Given the description of an element on the screen output the (x, y) to click on. 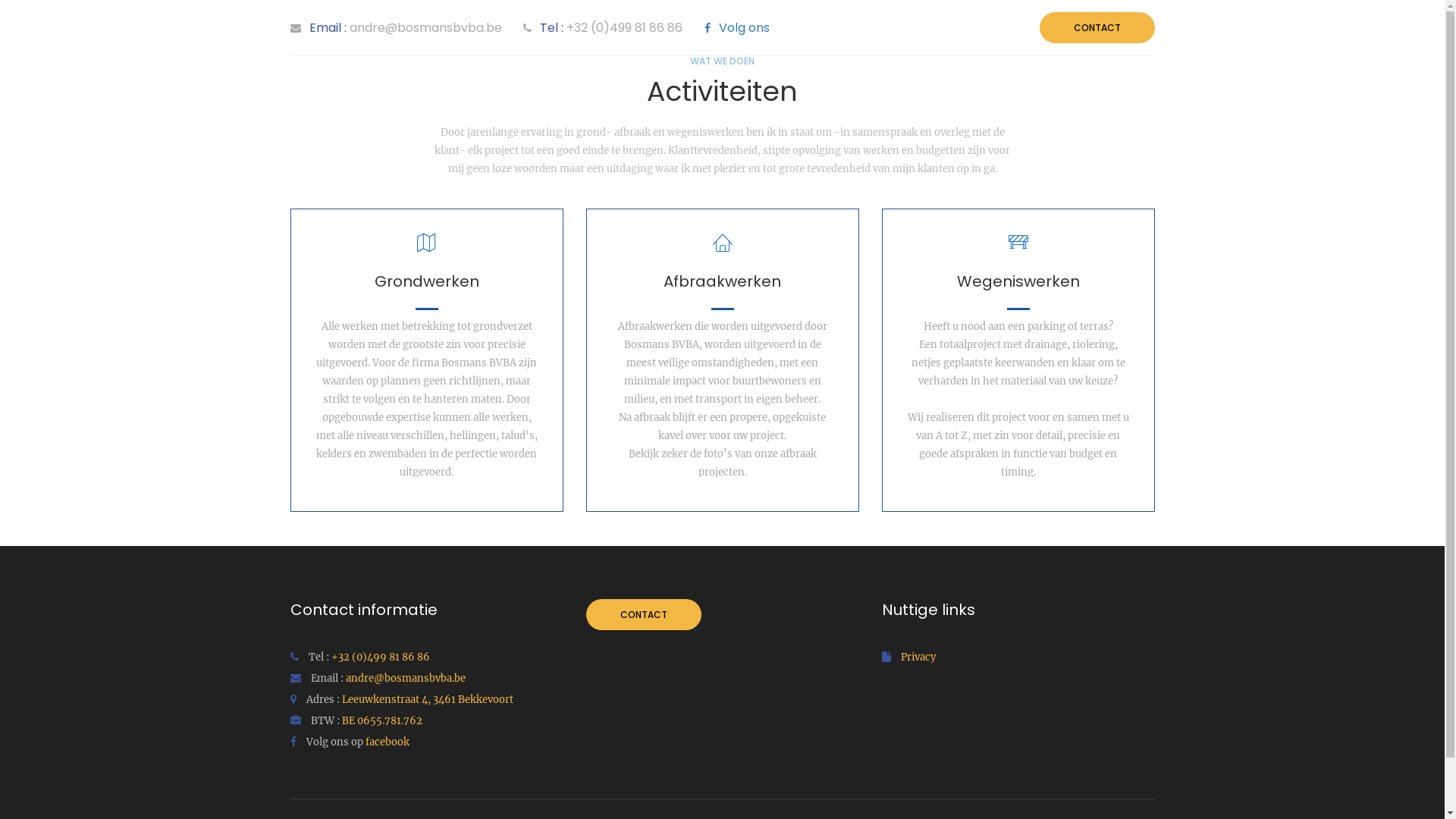
CONTACT Element type: text (1096, 27)
HOME Element type: text (997, 82)
CONTACT Element type: text (642, 614)
REALISATIES Element type: text (1059, 82)
Volg ons Element type: text (736, 27)
Volg ons op facebook Element type: text (348, 742)
Privacy Element type: text (917, 657)
CONTACT Element type: text (1131, 82)
